Given the description of an element on the screen output the (x, y) to click on. 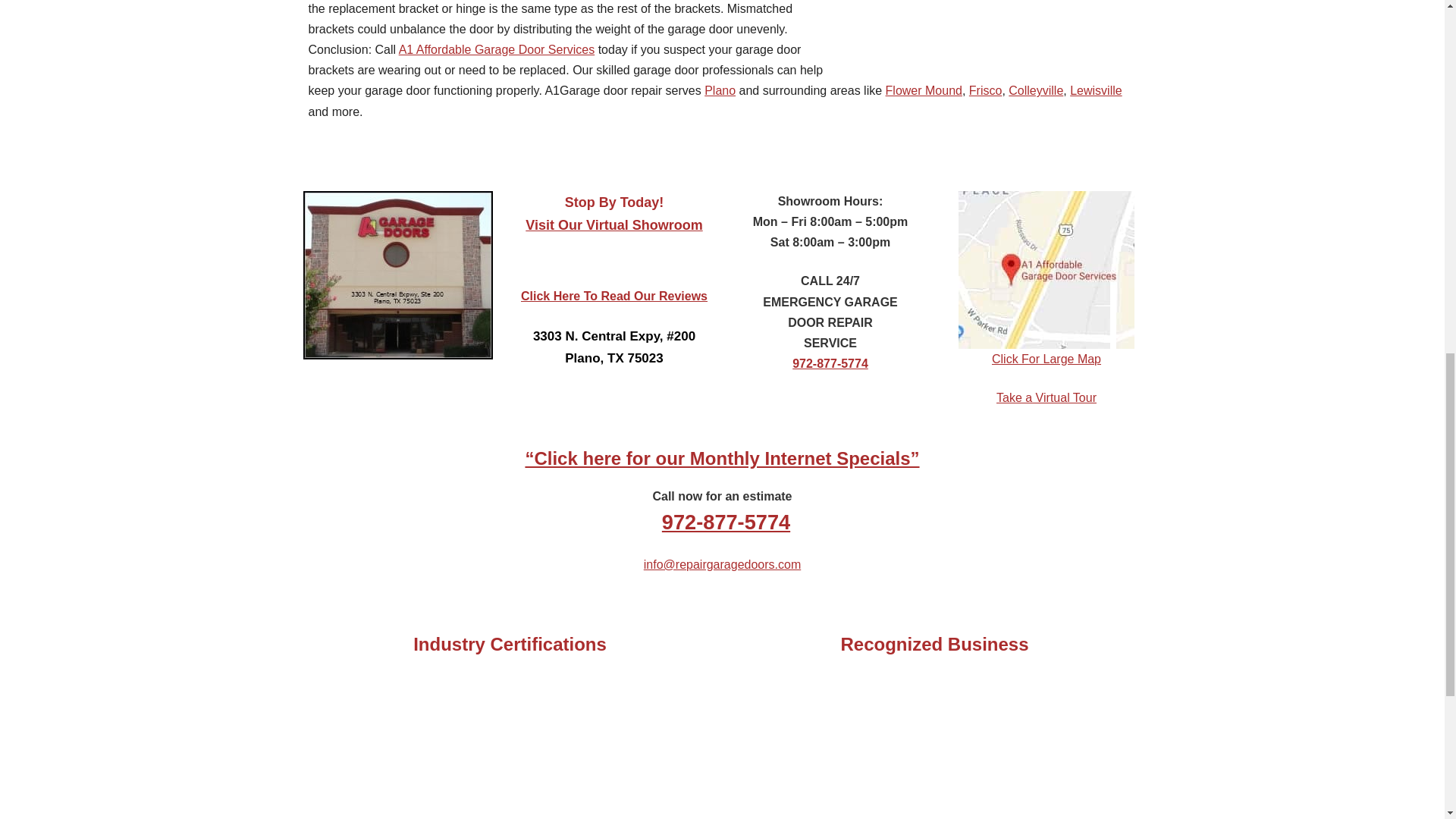
Garage Door Repair Savings Coupons (721, 457)
Plano Chamber member since 2008 (851, 719)
